Given the description of an element on the screen output the (x, y) to click on. 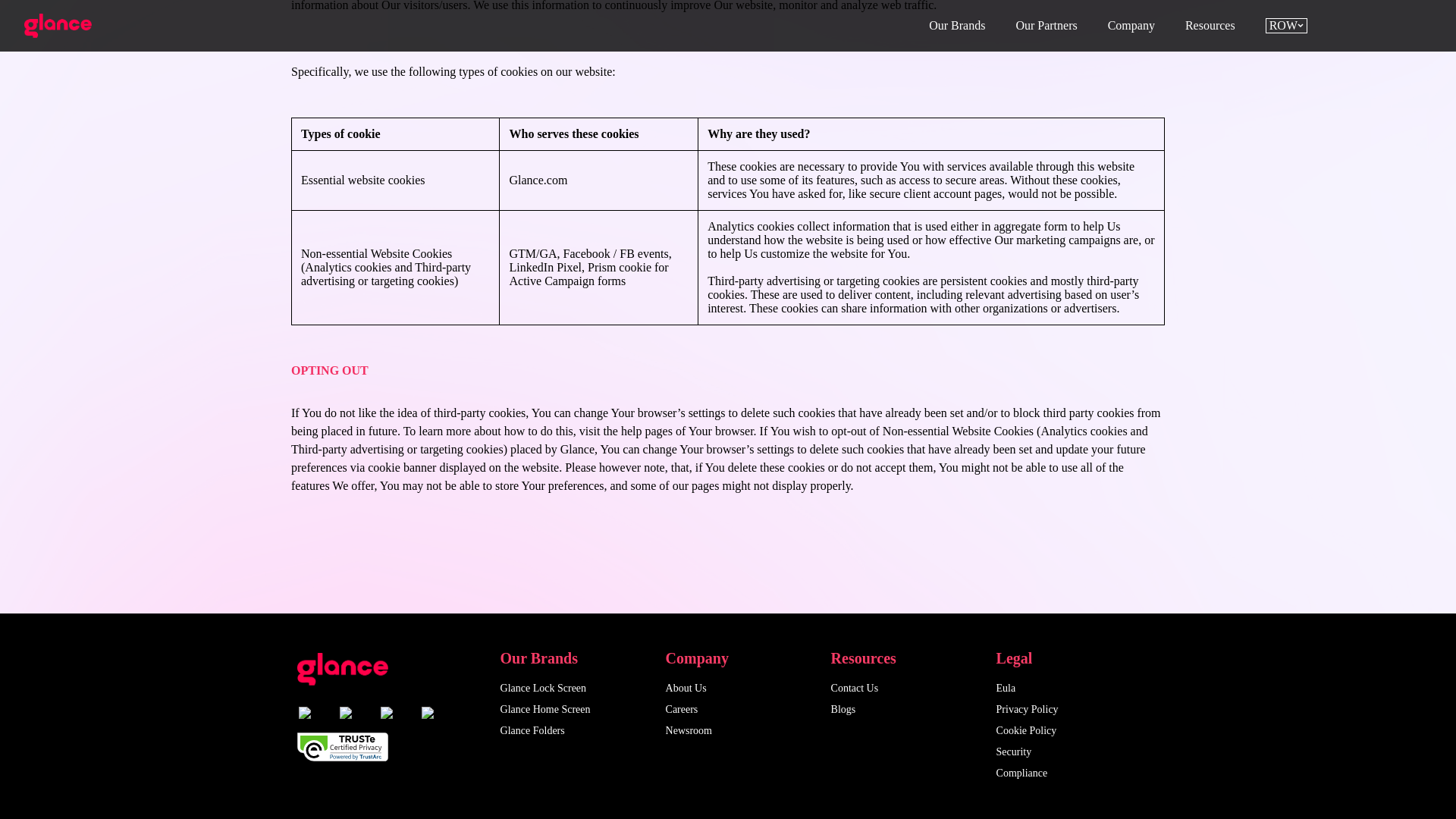
Contact Us (855, 687)
Privacy Policy (1026, 708)
Security (1013, 751)
Glance Folders (532, 730)
Careers (681, 708)
Newsroom (688, 730)
About Us (685, 687)
Glance Home Screen (545, 708)
Glance Lock Screen (543, 687)
Compliance (1021, 772)
Blogs (843, 708)
Cookie Policy (1026, 730)
Eula (1005, 687)
